Given the description of an element on the screen output the (x, y) to click on. 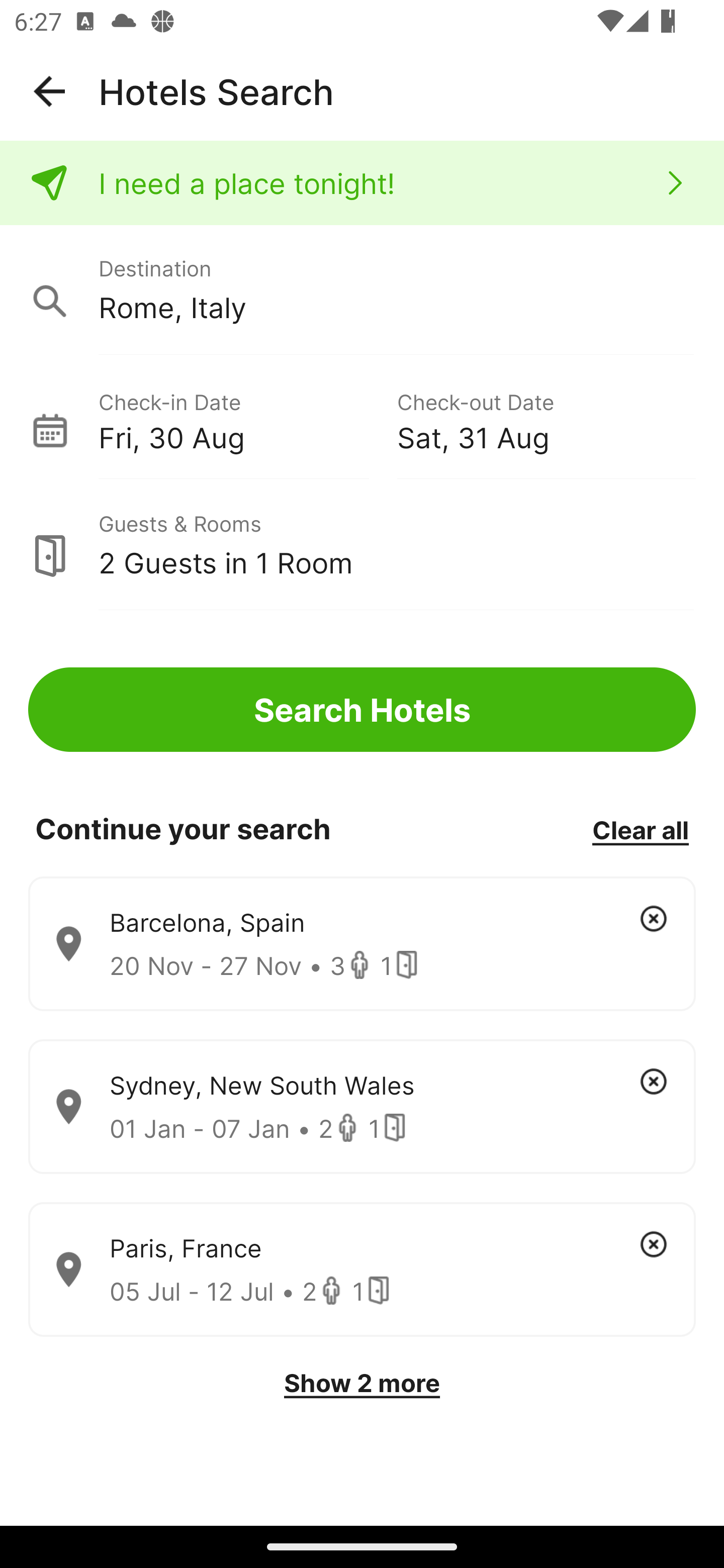
I need a place tonight! (362, 183)
Destination Rome, Italy (362, 290)
Check-in Date Fri, 30 Aug (247, 418)
Check-out Date Sat, 31 Aug (546, 418)
Guests & Rooms 2 Guests in 1 Room (362, 545)
Search Hotels (361, 709)
Clear all (640, 829)
Barcelona, Spain 20 Nov - 27 Nov • 3  1  (361, 943)
Sydney, New South Wales 01 Jan - 07 Jan • 2  1  (361, 1106)
Paris, France 05 Jul - 12 Jul • 2  1  (361, 1269)
Show 2 more (362, 1382)
